Given the description of an element on the screen output the (x, y) to click on. 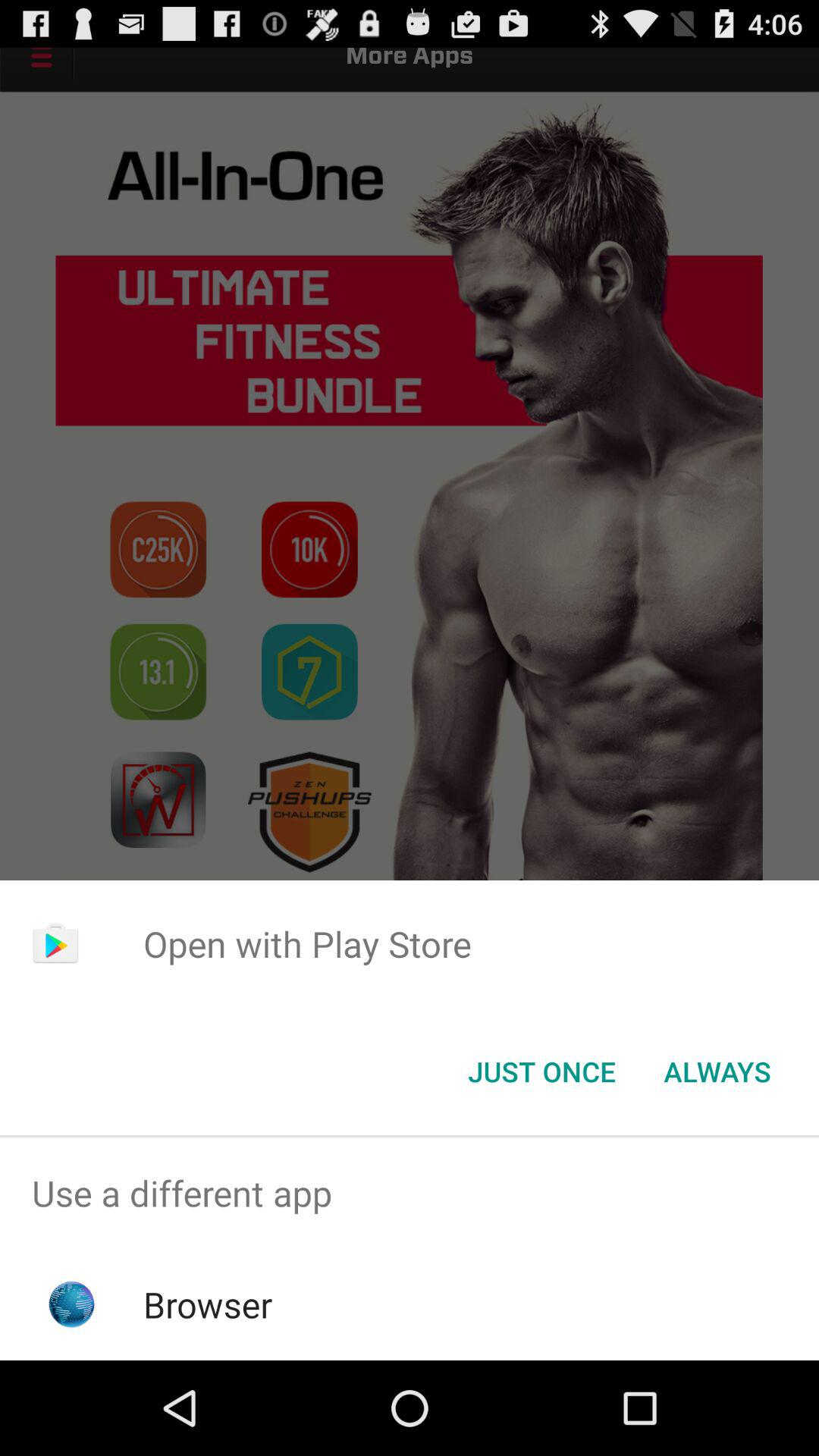
choose button to the left of always icon (541, 1071)
